Given the description of an element on the screen output the (x, y) to click on. 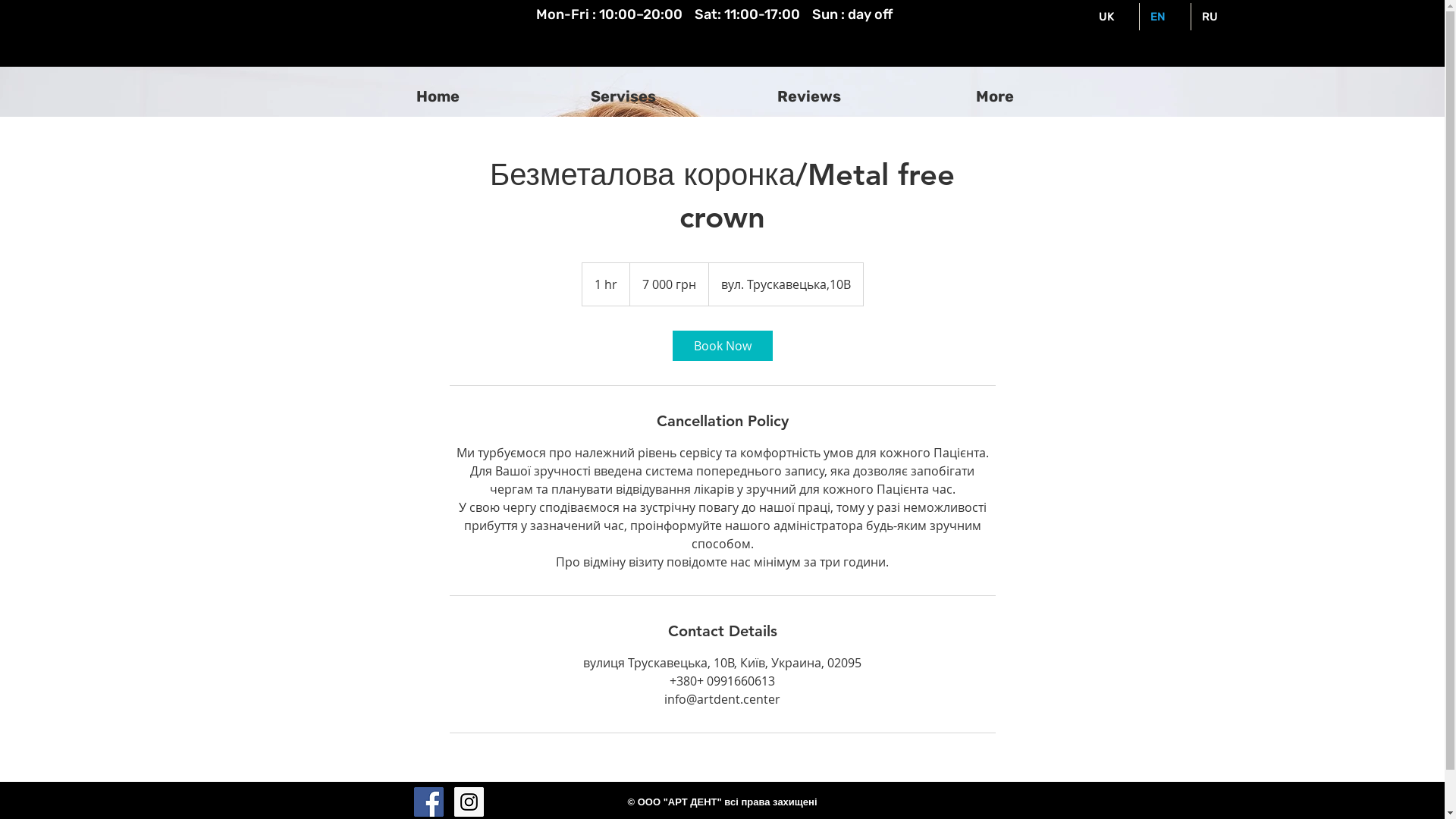
Servises Element type: text (623, 96)
Home Element type: text (437, 96)
Reviews Element type: text (808, 96)
Book Now Element type: text (721, 345)
